Given the description of an element on the screen output the (x, y) to click on. 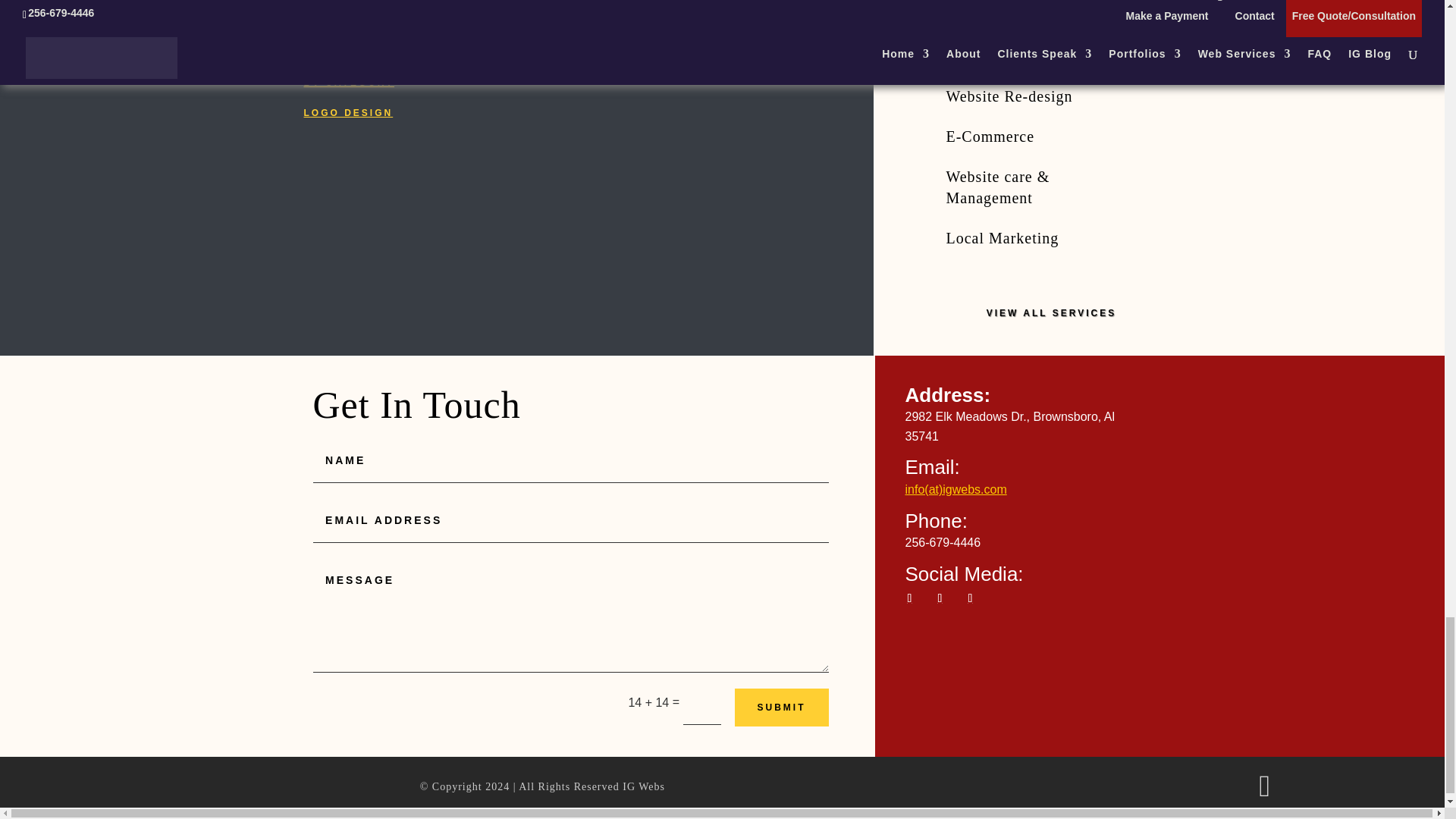
Follow on Youtube (970, 598)
Highly Recommended by Locals On Alignable (767, 65)
Follow on Facebook (909, 598)
Follow on X (940, 598)
